Given the description of an element on the screen output the (x, y) to click on. 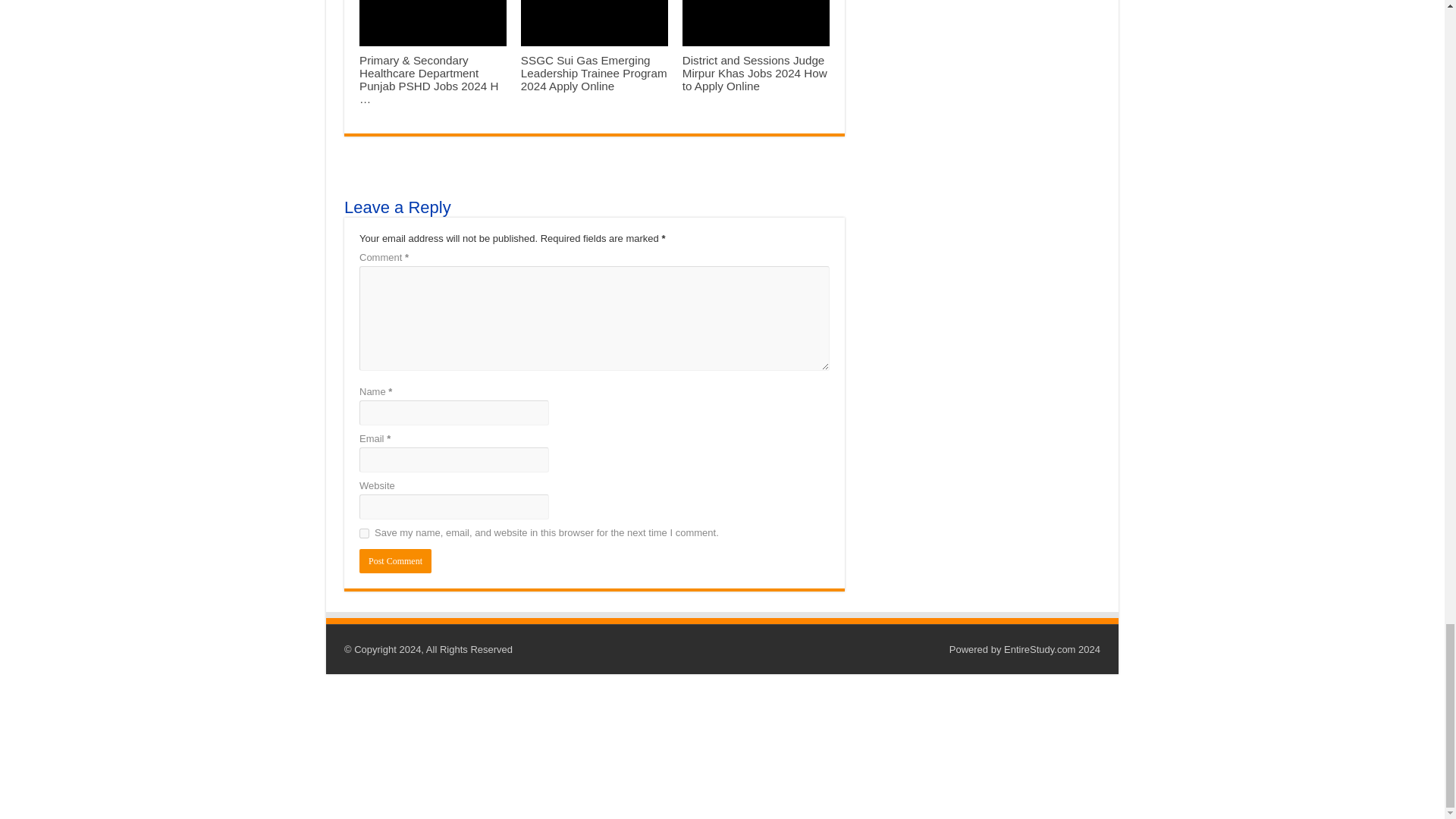
Post Comment (394, 560)
yes (364, 533)
